Given the description of an element on the screen output the (x, y) to click on. 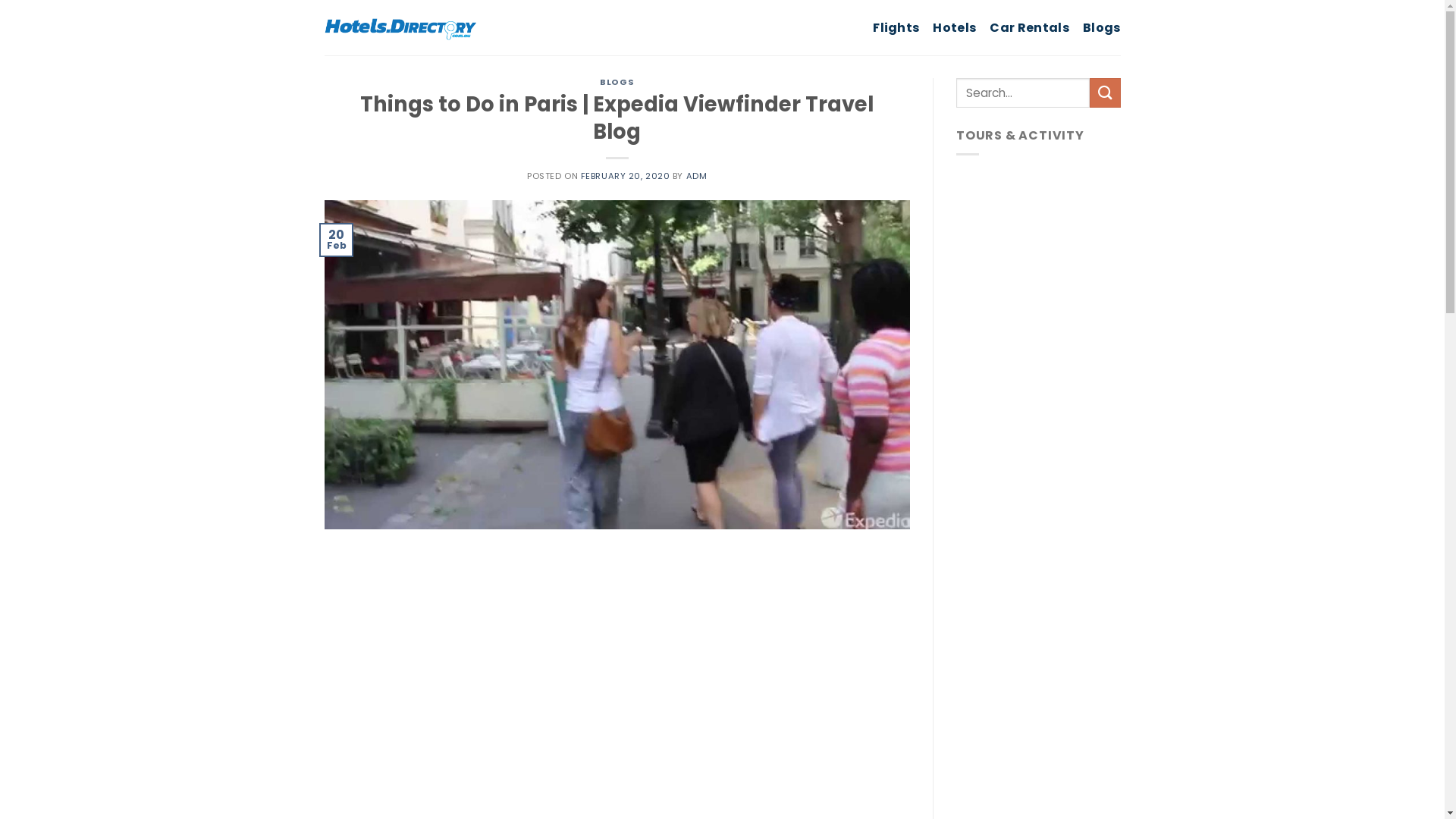
Car Rentals Element type: text (1029, 26)
BLOGS Element type: text (616, 81)
Blogs Element type: text (1101, 26)
FEBRUARY 20, 2020 Element type: text (625, 175)
Flights Element type: text (895, 26)
ADM Element type: text (696, 175)
Hotels Element type: text (953, 26)
Hotels Directory Element type: hover (400, 27)
